Given the description of an element on the screen output the (x, y) to click on. 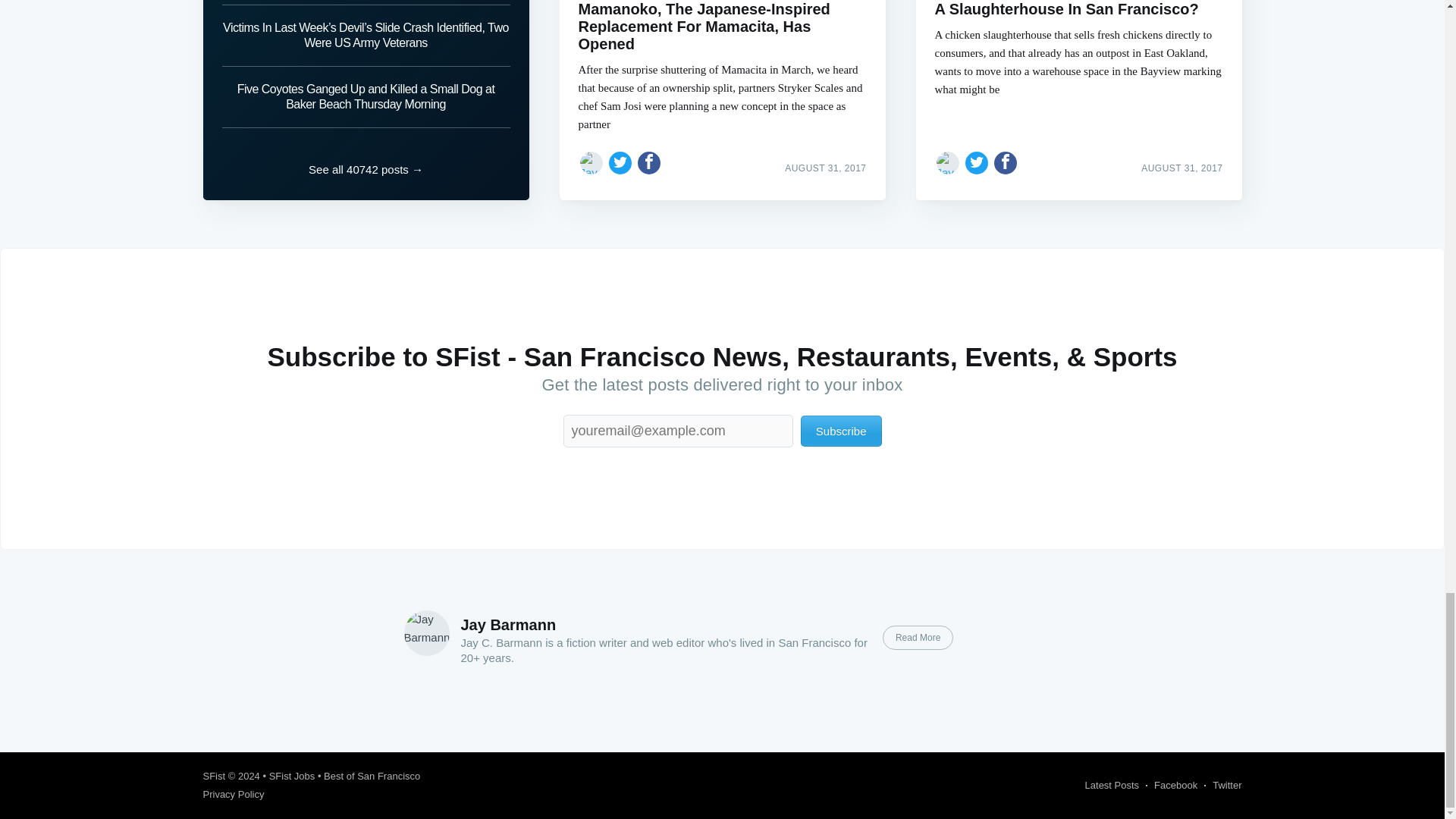
Share on Twitter (976, 162)
Share on Facebook (649, 162)
Share on Twitter (620, 162)
Share on Facebook (1004, 162)
